Given the description of an element on the screen output the (x, y) to click on. 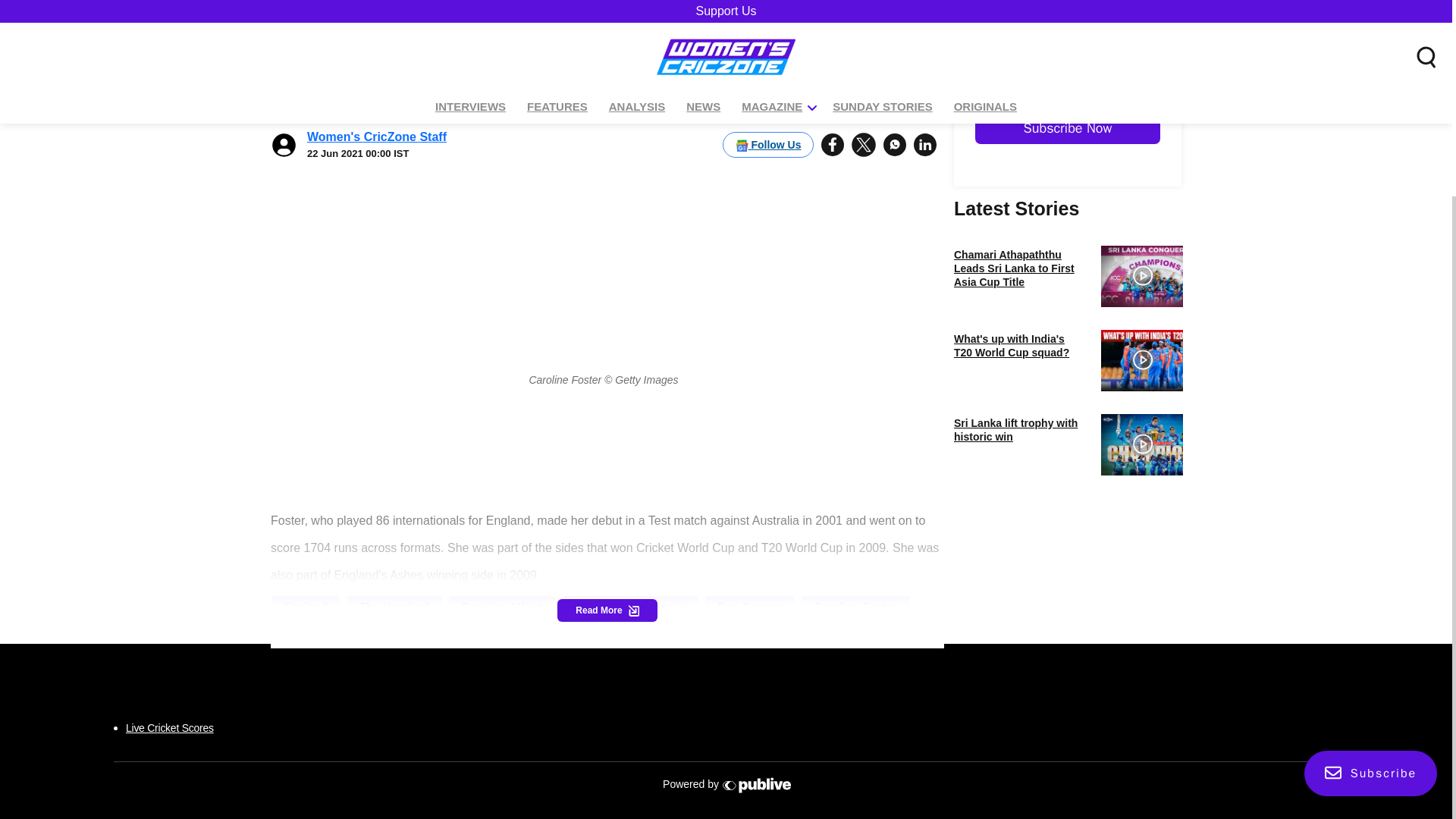
Ben Sawyer (749, 606)
The Hundred (394, 606)
Read More (606, 609)
Birmingham Phoenix (630, 606)
The Hundred, 2021 (335, 632)
Follow Us (767, 82)
Caroline Foster (855, 606)
England (305, 606)
Women's CricZone Staff (376, 74)
Caroline Atkins (502, 606)
